Given the description of an element on the screen output the (x, y) to click on. 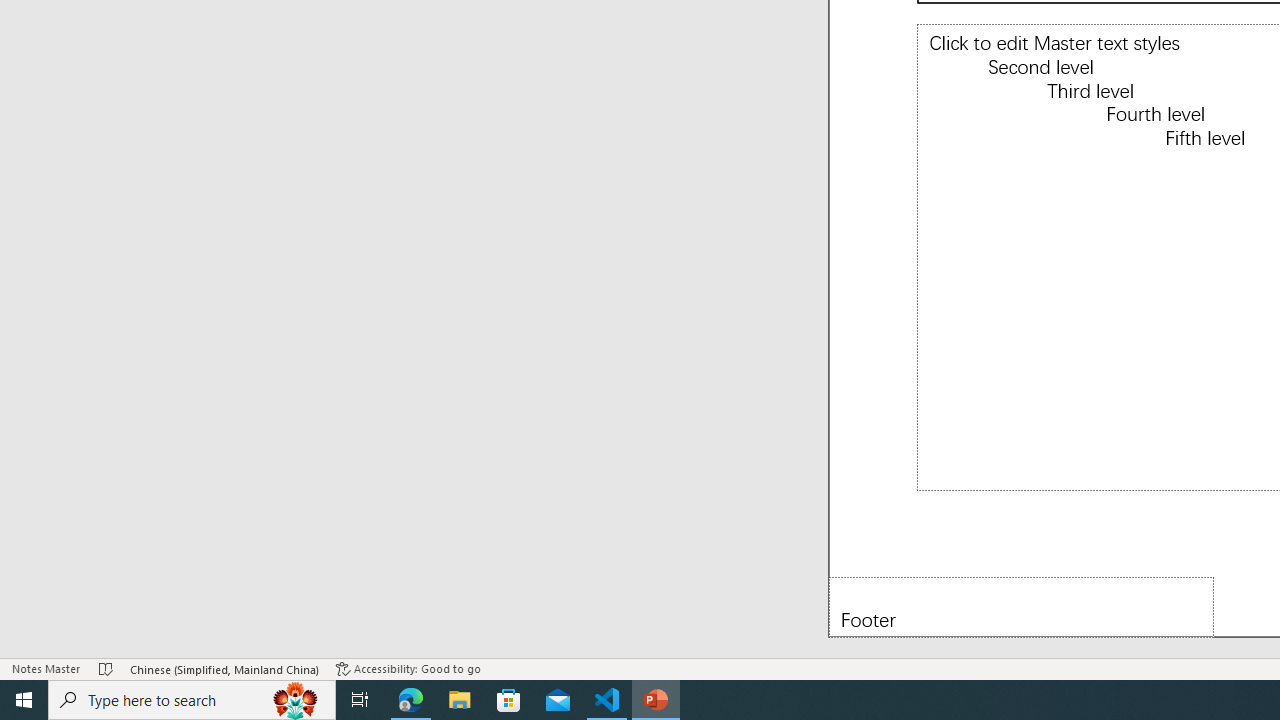
Footer (1021, 606)
Accessibility Checker Accessibility: Good to go (407, 668)
